Given the description of an element on the screen output the (x, y) to click on. 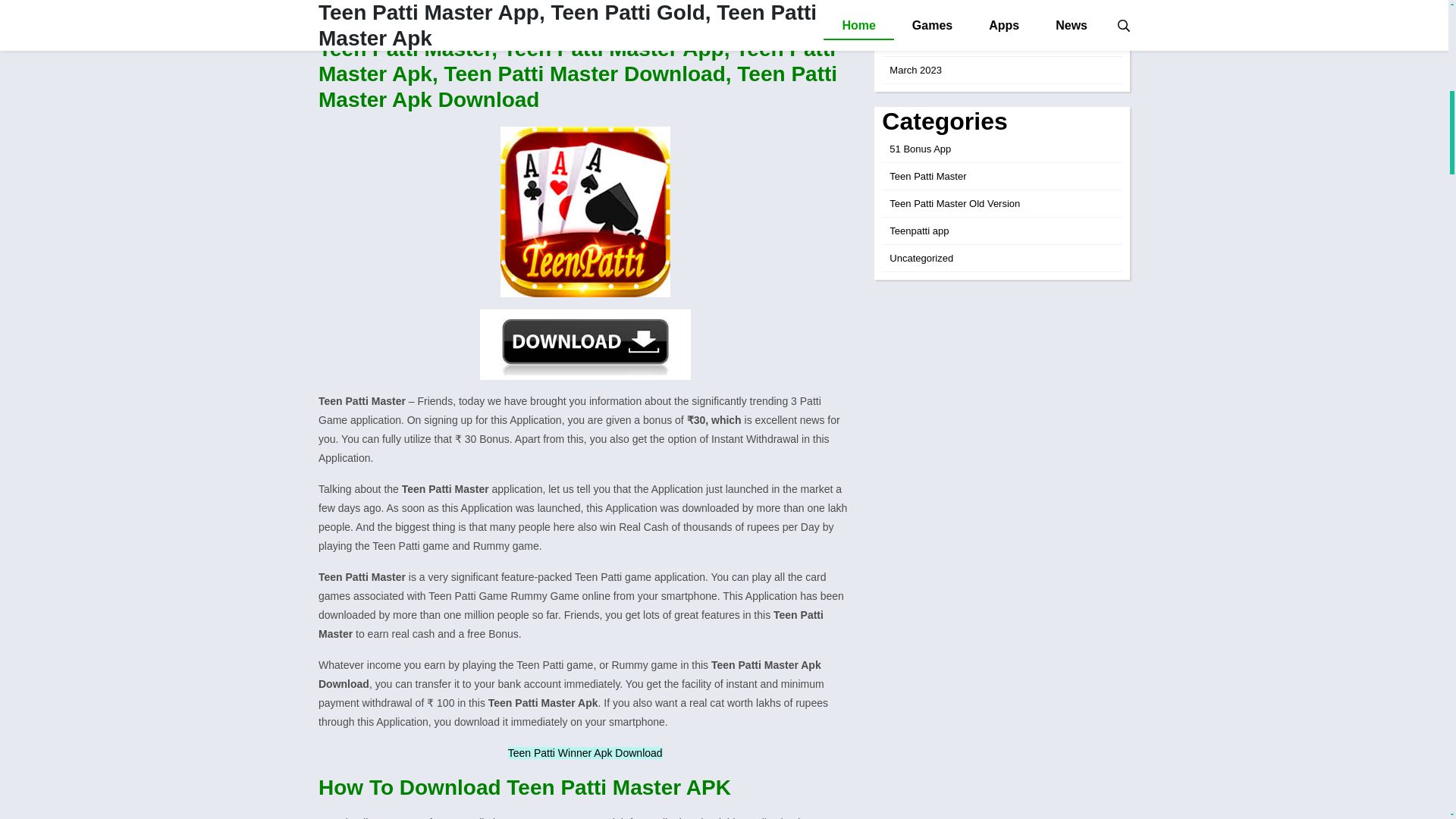
FAQS (347, 9)
Keyword (353, 0)
Keyword (353, 0)
FAQS (347, 9)
Teen Patti Winner Apk Download (585, 752)
